Given the description of an element on the screen output the (x, y) to click on. 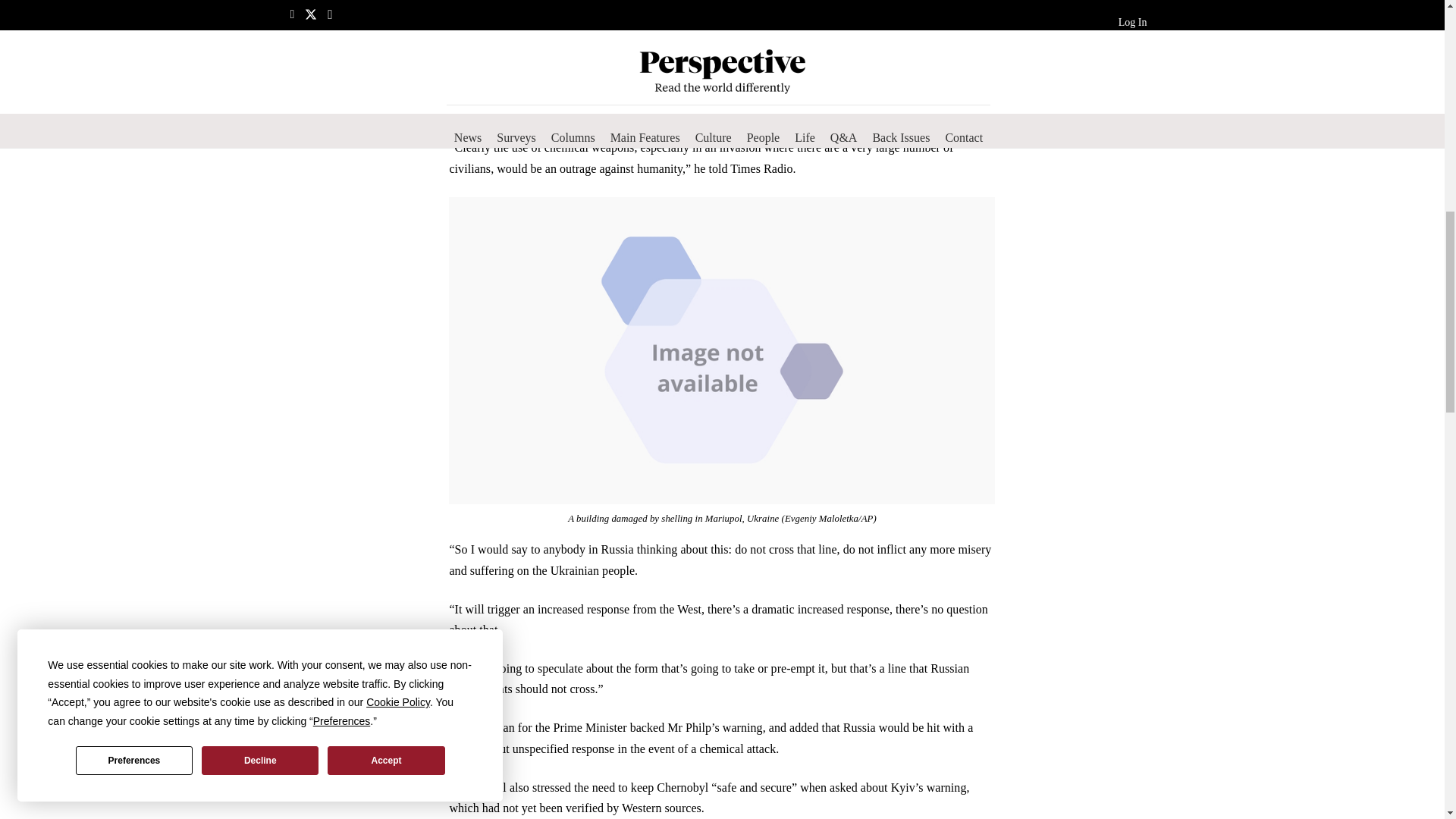
Back to top (1413, 26)
